Given the description of an element on the screen output the (x, y) to click on. 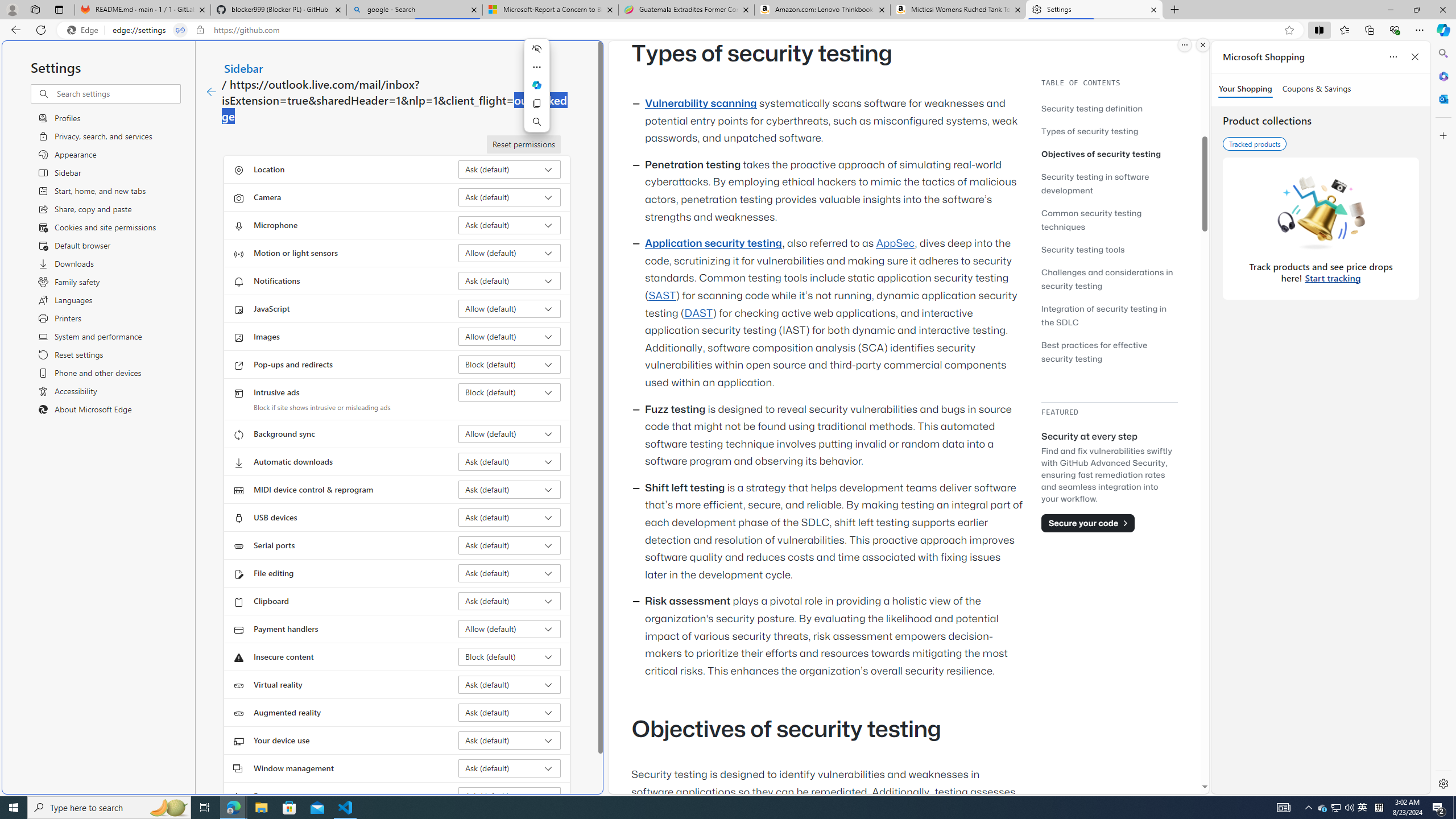
Reset permissions (523, 144)
Class: c01182 (210, 91)
Hide menu (536, 49)
Tabs in split screen (180, 29)
Motion or light sensors Allow (default) (509, 253)
Security testing in software development (1094, 182)
Window management Ask (default) (509, 768)
Security testing tools (1109, 249)
Insecure content Block (default) (509, 656)
More options. (1183, 45)
Common security testing techniques (1091, 219)
